Given the description of an element on the screen output the (x, y) to click on. 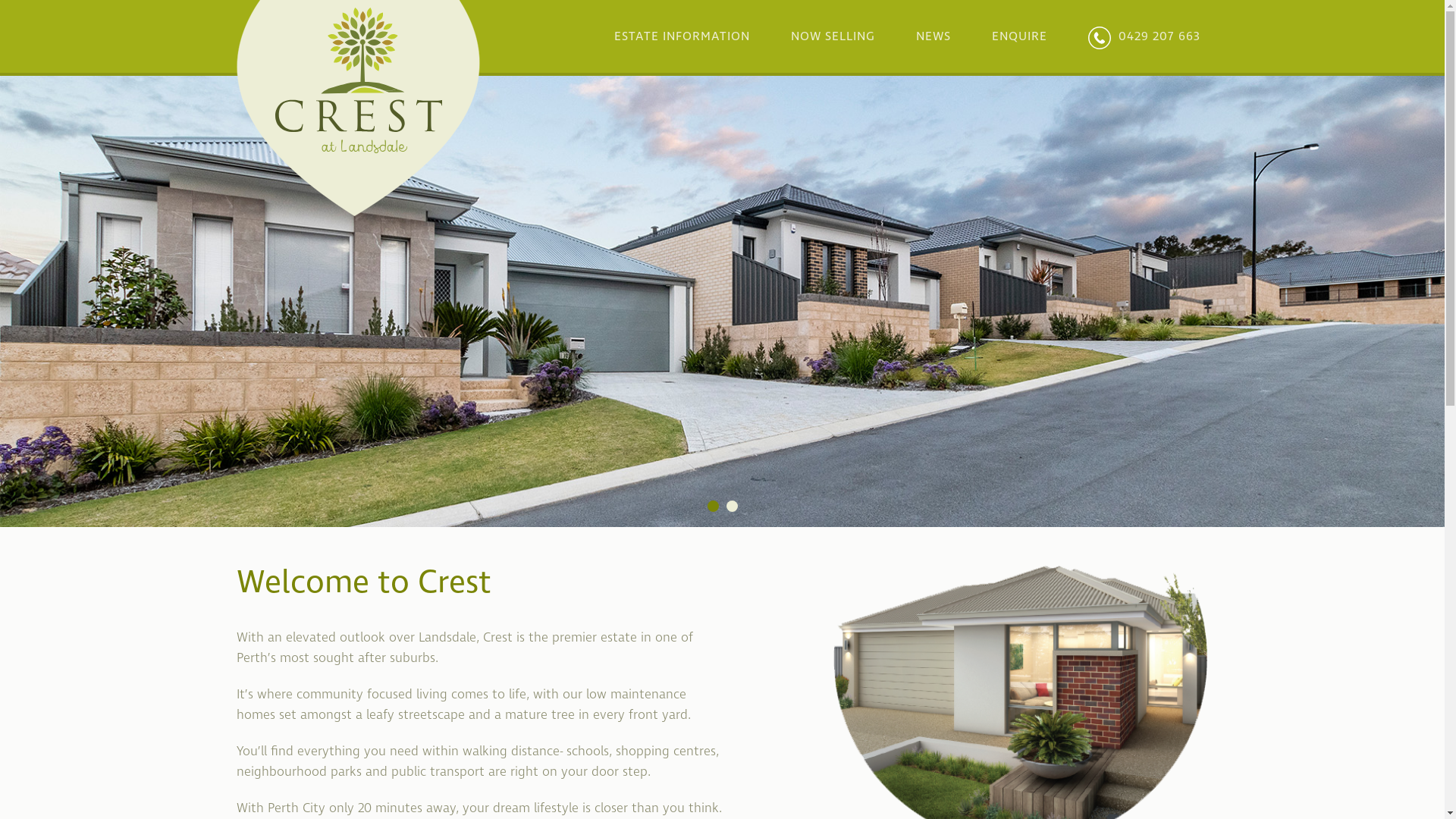
2 Element type: text (731, 505)
NOW SELLING Element type: text (832, 36)
0429 207 663 Element type: text (1144, 36)
ENQUIRE Element type: text (1019, 36)
1 Element type: text (712, 505)
NEWS Element type: text (933, 36)
ESTATE INFORMATION Element type: text (681, 36)
